Given the description of an element on the screen output the (x, y) to click on. 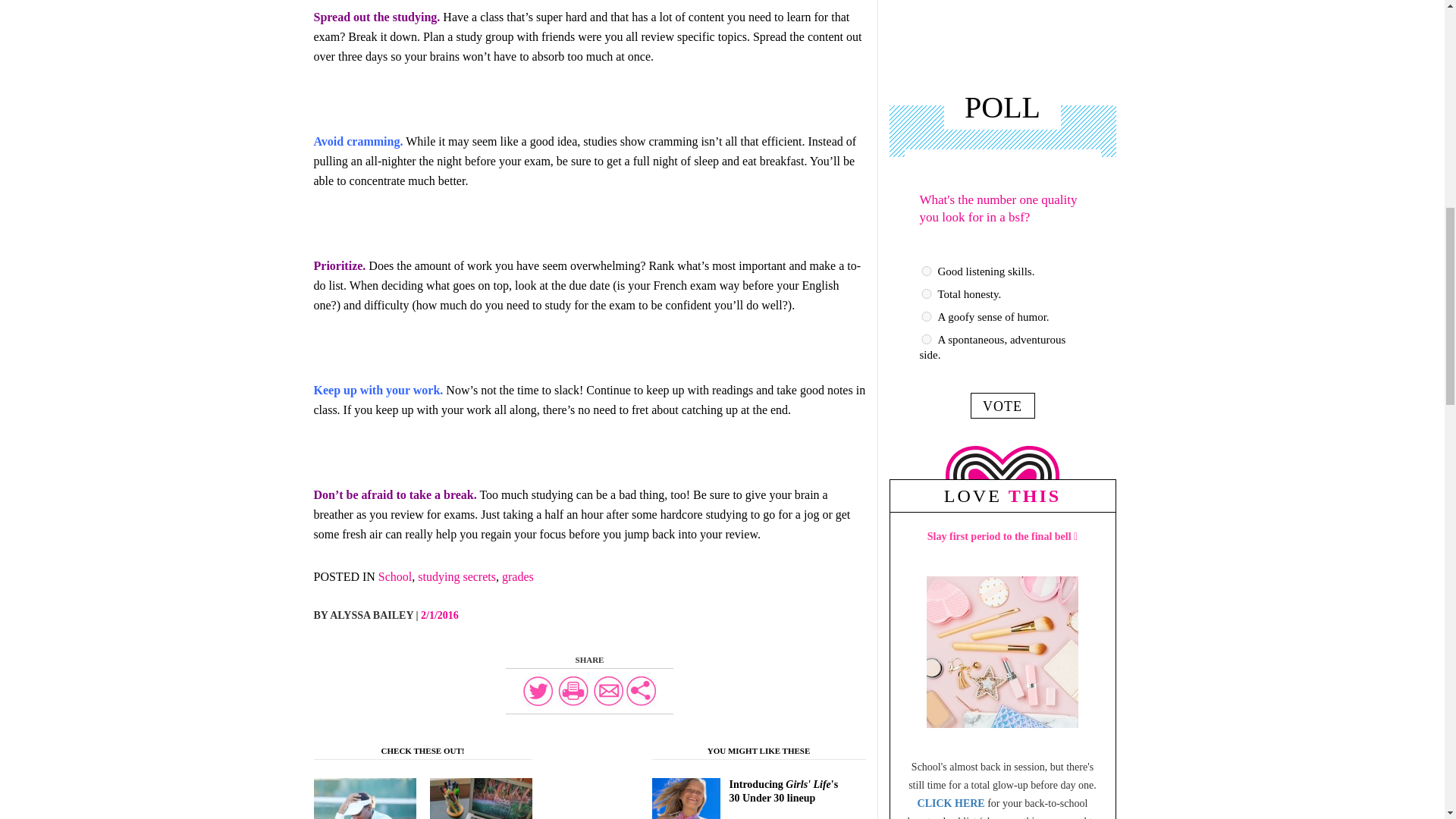
22442 (925, 271)
22443 (925, 293)
22444 (925, 316)
vote (1003, 405)
22445 (925, 338)
